Given the description of an element on the screen output the (x, y) to click on. 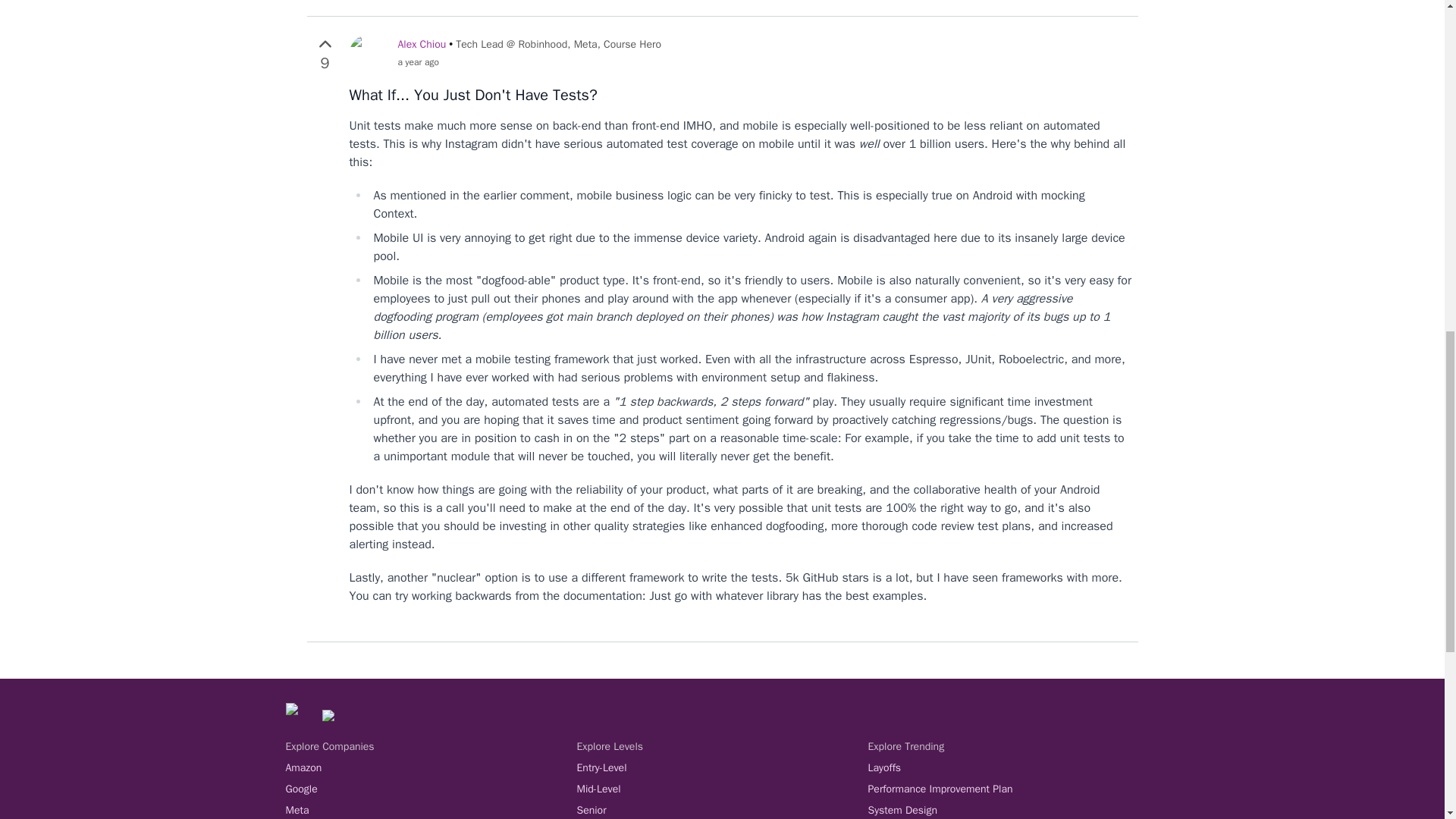
Senior (721, 810)
Meta (430, 810)
Google (430, 789)
Layoffs (1012, 767)
Entry-Level (721, 767)
Mid-Level (721, 789)
System Design (1012, 810)
Amazon (430, 767)
Alex Chiou (421, 43)
Performance Improvement Plan (1012, 789)
